Given the description of an element on the screen output the (x, y) to click on. 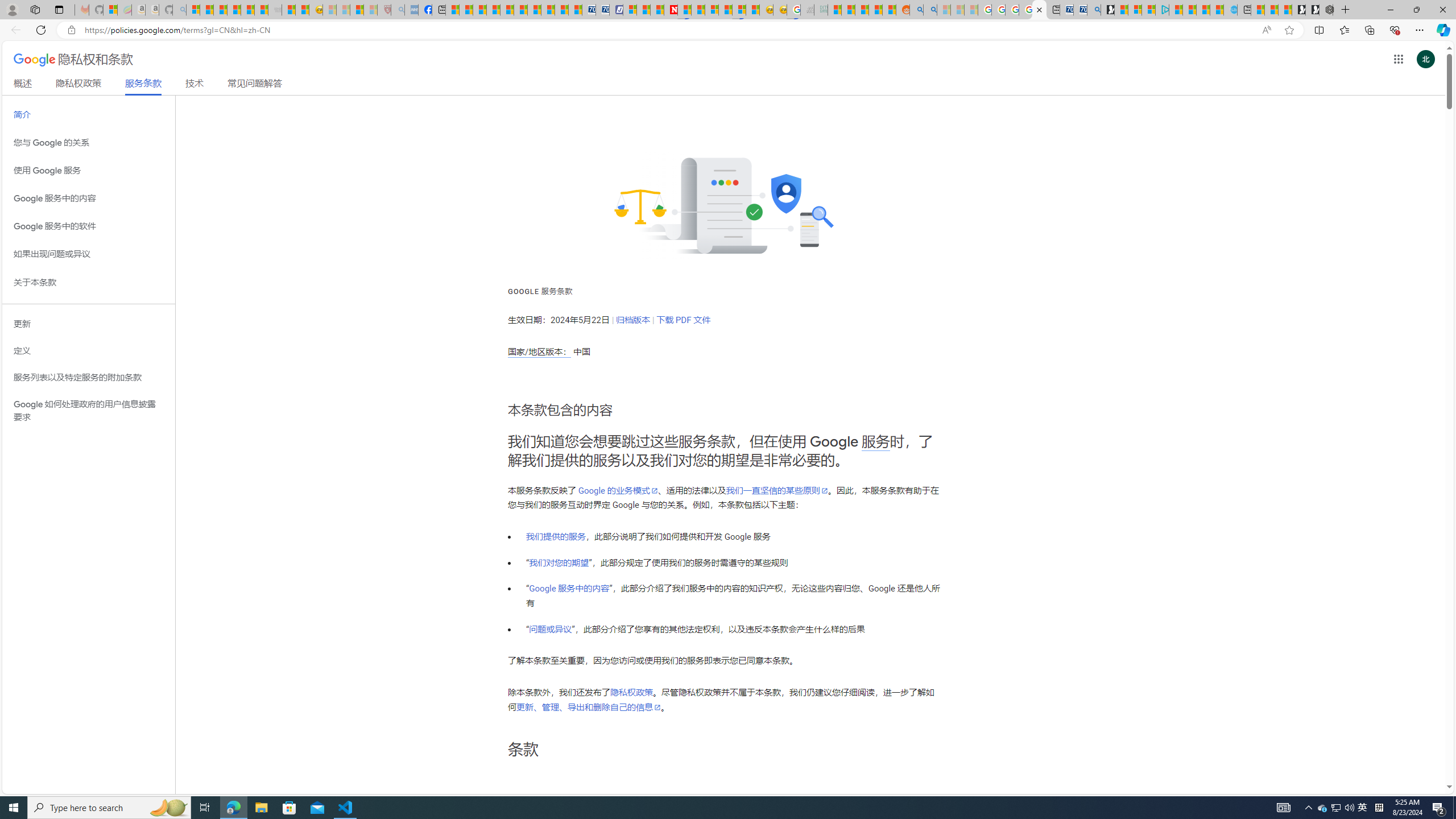
Bing Real Estate - Home sales and rental listings (1093, 9)
